Given the description of an element on the screen output the (x, y) to click on. 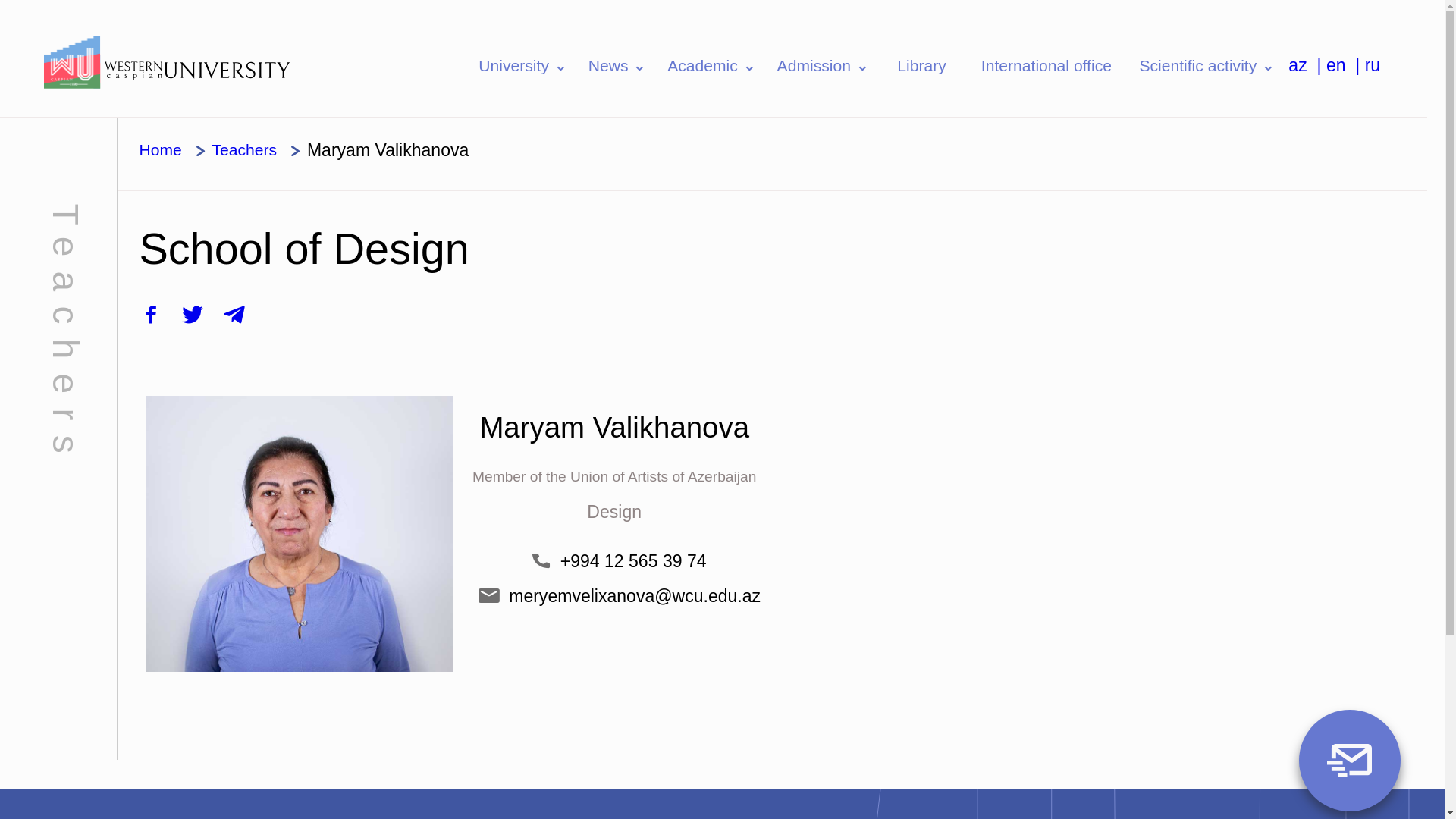
Library Element type: text (921, 65)
Admission Element type: text (822, 65)
News Element type: text (617, 65)
Teachers Element type: text (243, 150)
Academic Element type: text (712, 65)
University Element type: text (523, 65)
Home Element type: text (159, 150)
en  |  Element type: text (1345, 65)
International office Element type: text (1046, 65)
Scientific activity Element type: text (1207, 65)
az  |  Element type: text (1307, 65)
ru Element type: text (1372, 65)
